Given the description of an element on the screen output the (x, y) to click on. 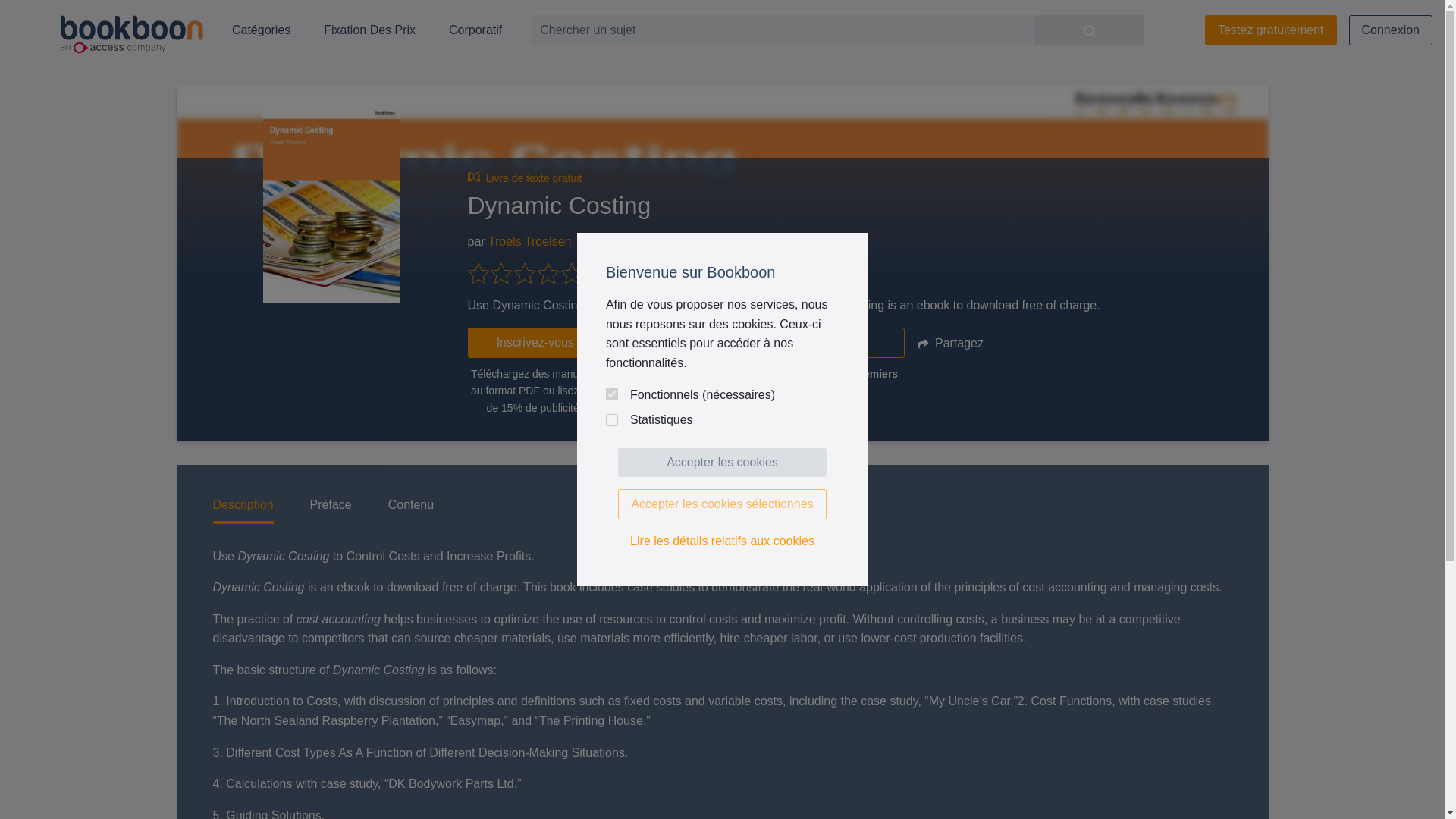
Accepter les cookies (722, 461)
Corporatif (475, 30)
STATISTICAL (611, 419)
Fixation Des Prix (369, 30)
FUNCTIONAL (611, 394)
